Given the description of an element on the screen output the (x, y) to click on. 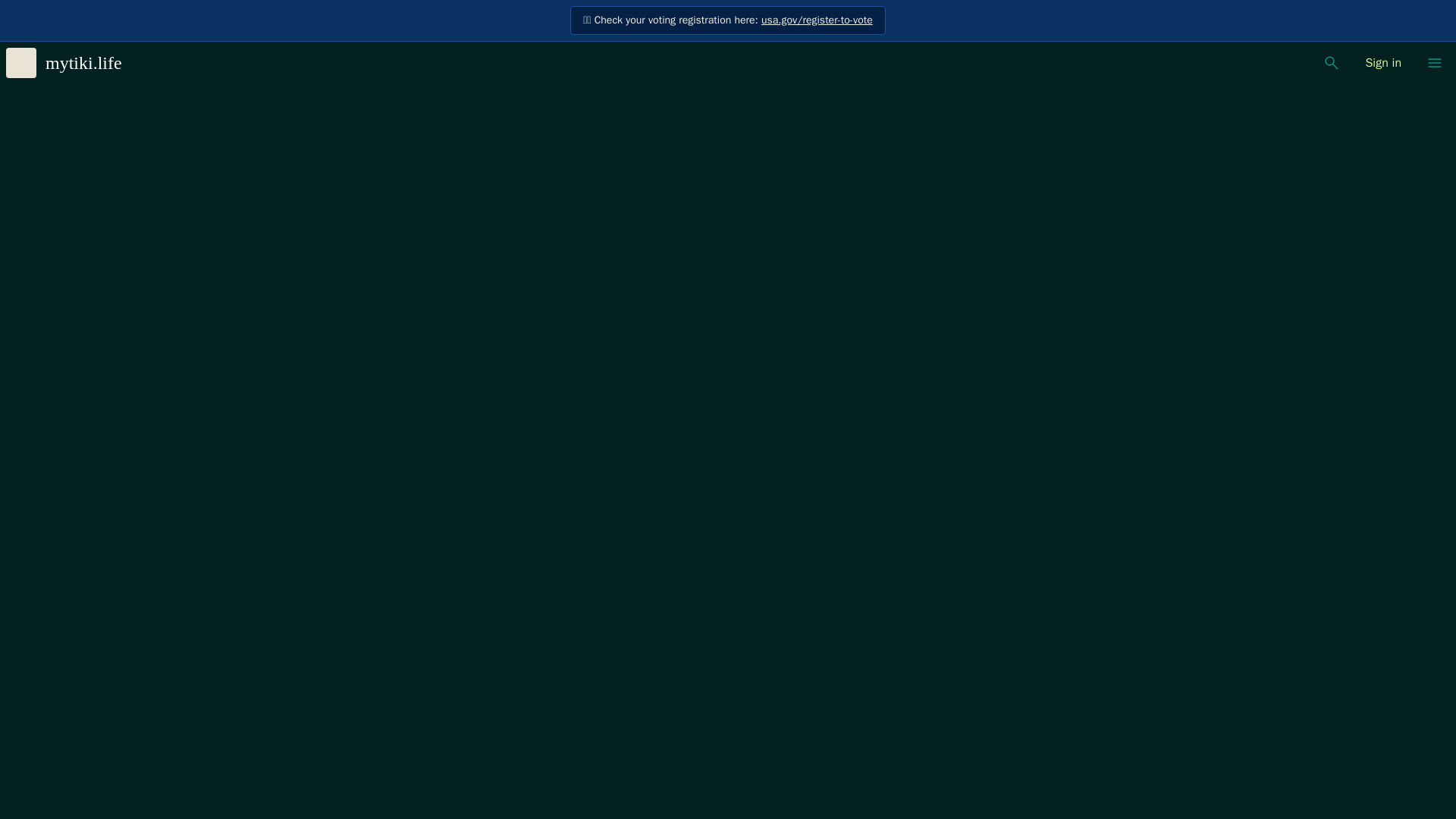
Show search (1331, 62)
Sign in (1382, 62)
mytiki.life (69, 62)
Site (1434, 62)
